Given the description of an element on the screen output the (x, y) to click on. 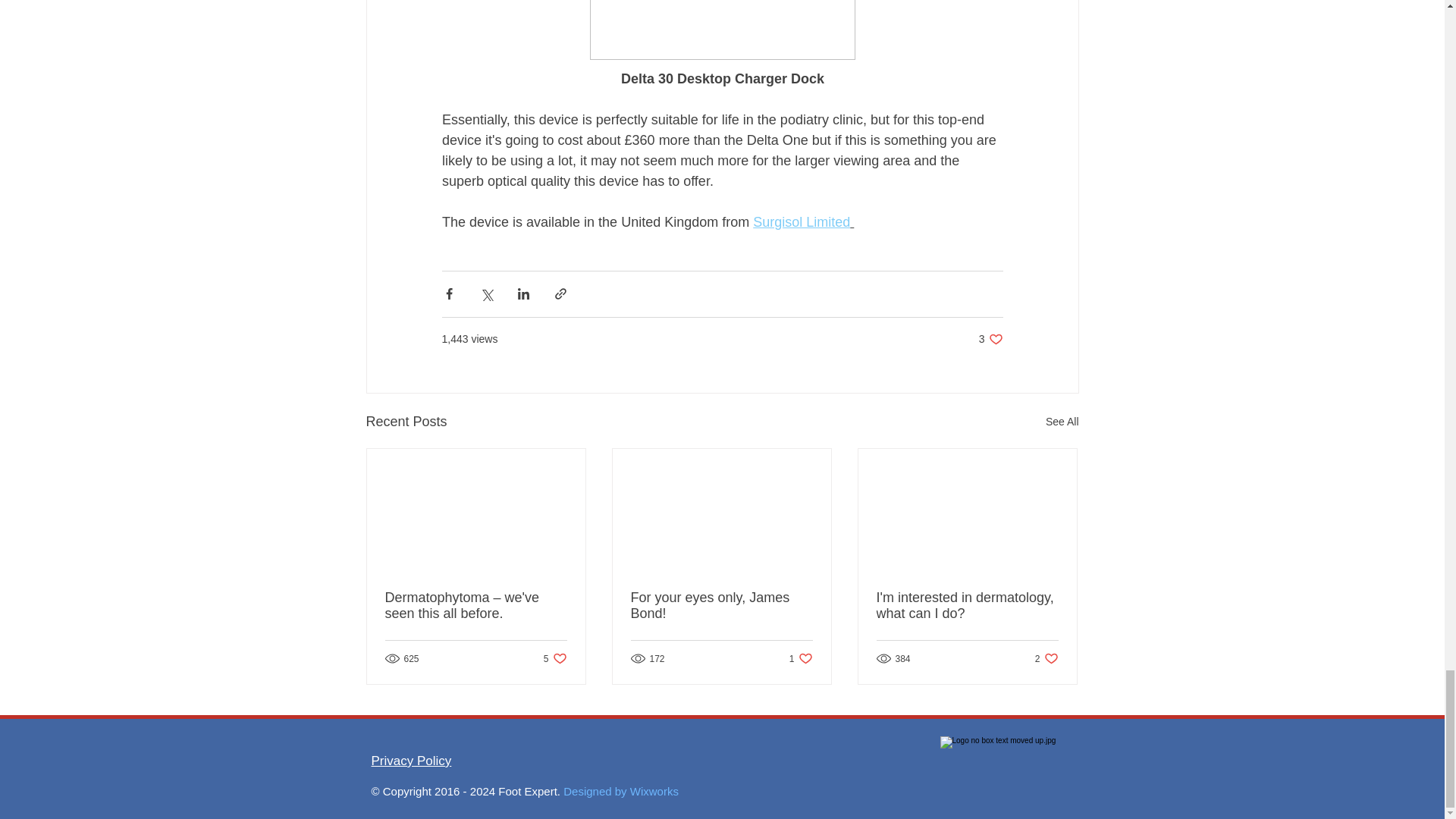
For your eyes only, James Bond! (555, 658)
Privacy Policy (721, 605)
Surgisol Limited (411, 760)
See All (1046, 658)
I'm interested in dermatology, what can I do? (801, 222)
Designed by Wixworks (800, 658)
